Given the description of an element on the screen output the (x, y) to click on. 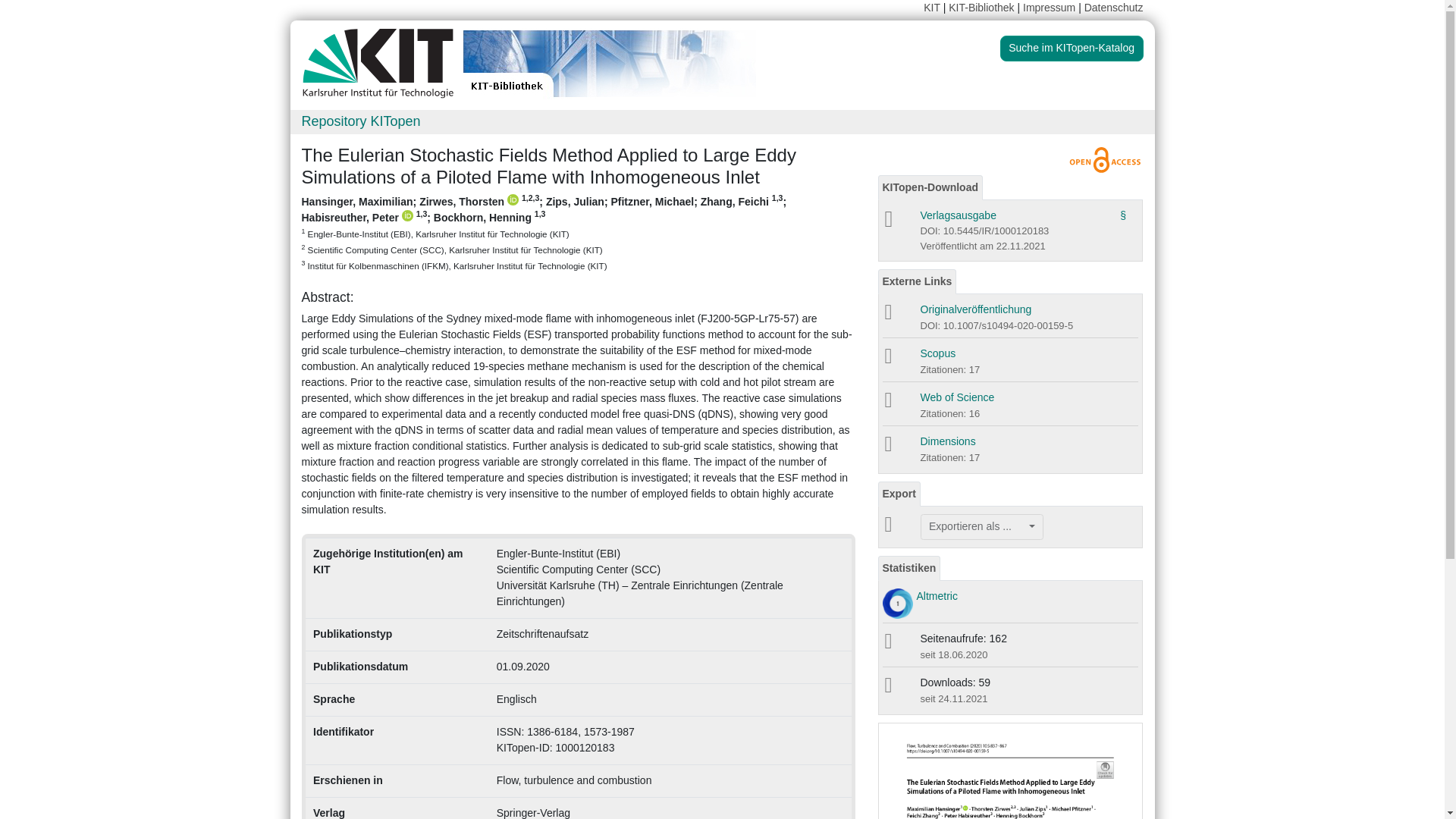
Statistiken (908, 568)
Externe Links (916, 281)
Dimensions (947, 440)
KIT-Bibliothek (982, 7)
Scopus (938, 353)
View record in Altmetric. (935, 595)
Datenschutz (1113, 7)
Web of Science (957, 397)
KIT (931, 7)
Export (898, 493)
KITopen-Download (930, 187)
Exportieren als ...     (981, 526)
Altmetric (935, 595)
Impressum (1049, 7)
Suche im KITopen-Katalog (1071, 48)
